Given the description of an element on the screen output the (x, y) to click on. 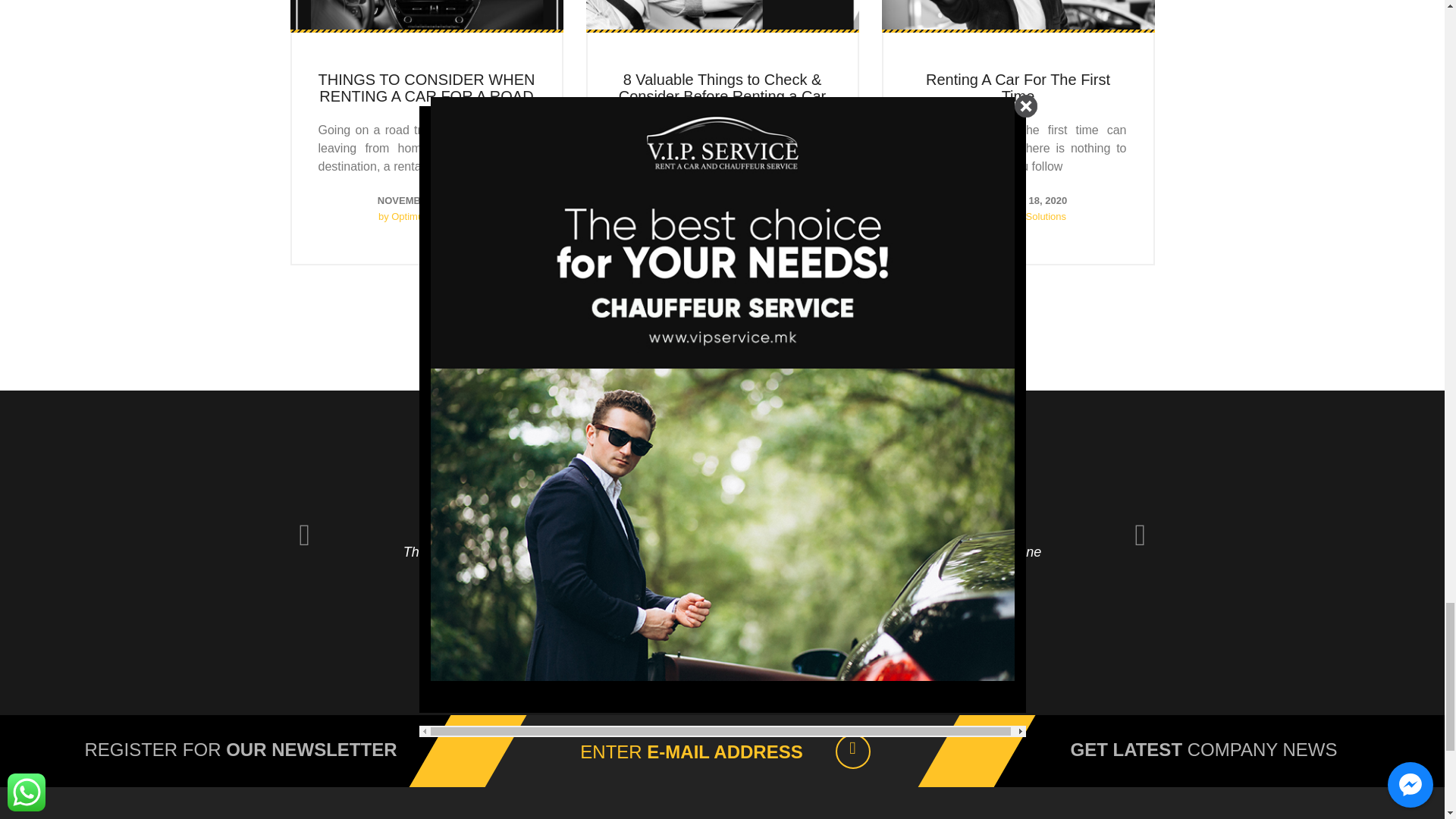
by Optimum Solutions (1017, 215)
NOVEMBER 18, 2020 (1018, 200)
Renting A Car For The First Time (1017, 87)
ENTER E-MAIL ADDRESS (690, 752)
by Optimum Solutions (426, 215)
NOVEMBER 19, 2020 (426, 200)
THINGS TO CONSIDER WHEN RENTING A CAR FOR A ROAD TRIP (426, 96)
by Optimum Solutions (722, 215)
NOVEMBER 19, 2020 (721, 200)
